Given the description of an element on the screen output the (x, y) to click on. 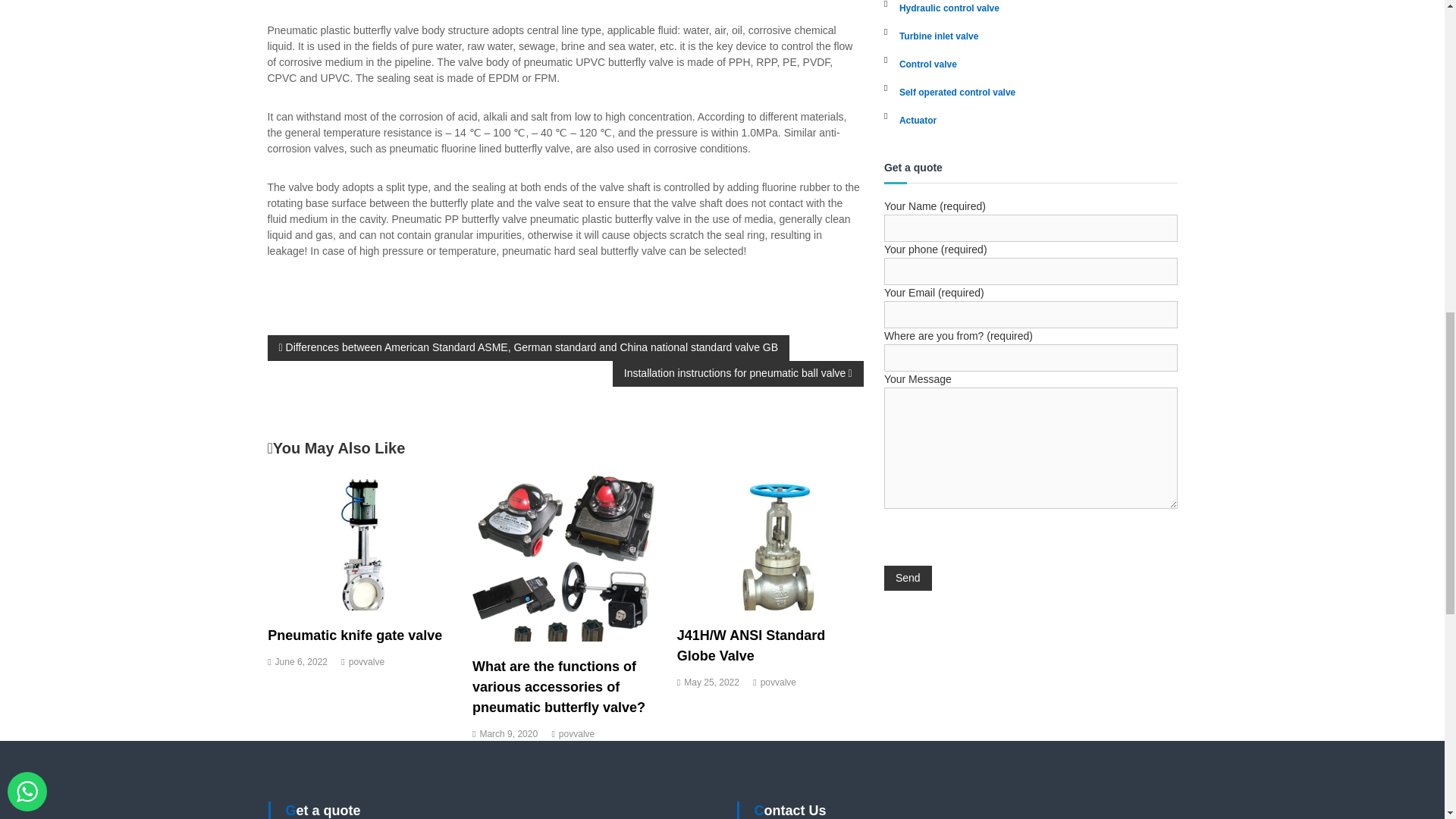
Pneumatic knife gate valve (354, 635)
Send (907, 577)
Pneumatic knife gate valve (360, 541)
